Given the description of an element on the screen output the (x, y) to click on. 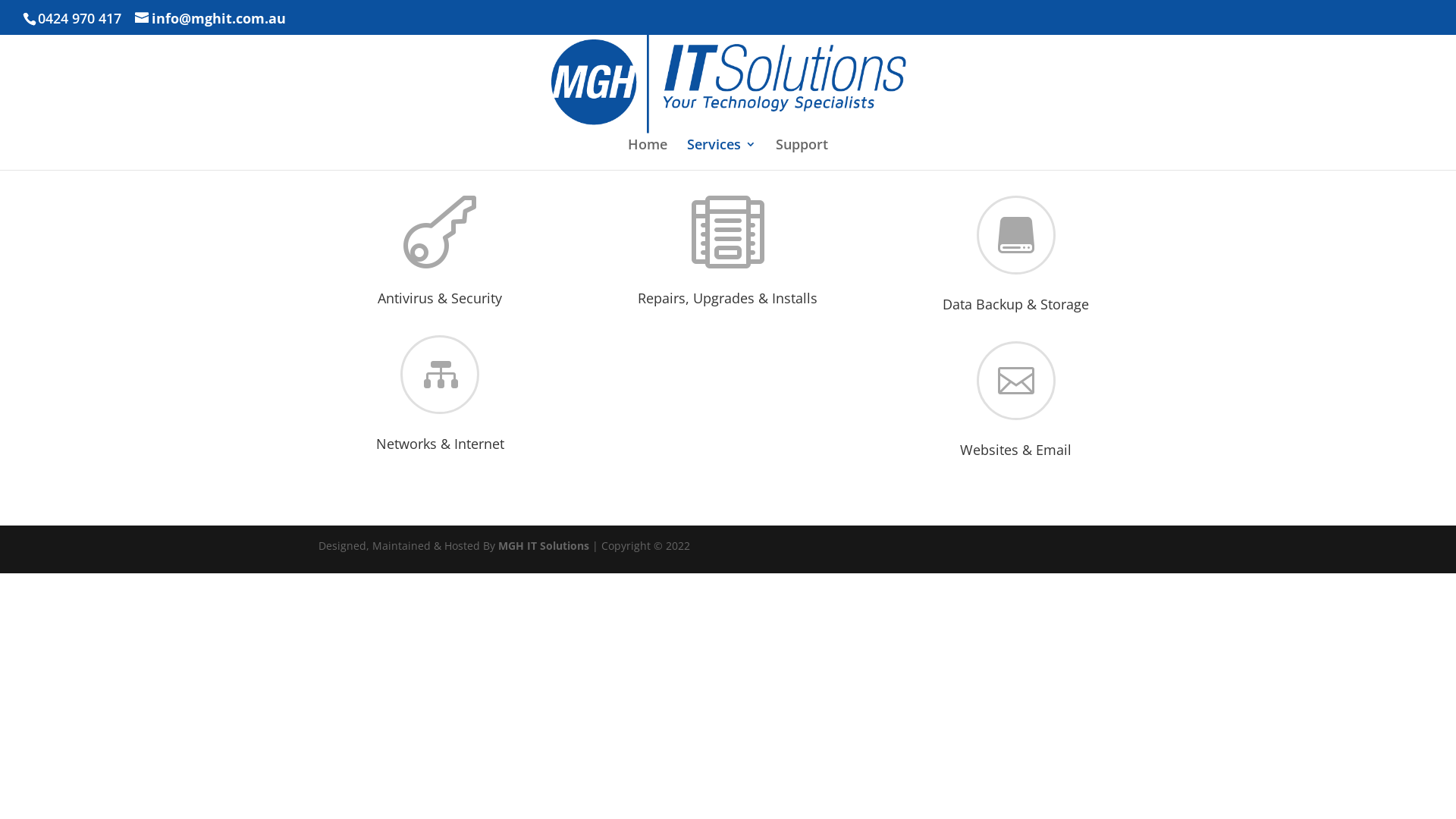
Repairs, Upgrades & Installs Element type: text (727, 297)
Data Backup & Storage Element type: text (1015, 303)
Support Element type: text (801, 153)
Services Element type: text (721, 153)
Networks & Internet Element type: text (440, 443)
Antivirus & Security Element type: text (439, 297)
MGH IT Solutions Element type: text (543, 545)
info@mghit.com.au Element type: text (209, 18)
Home Element type: text (647, 153)
Websites & Email Element type: text (1015, 449)
